Given the description of an element on the screen output the (x, y) to click on. 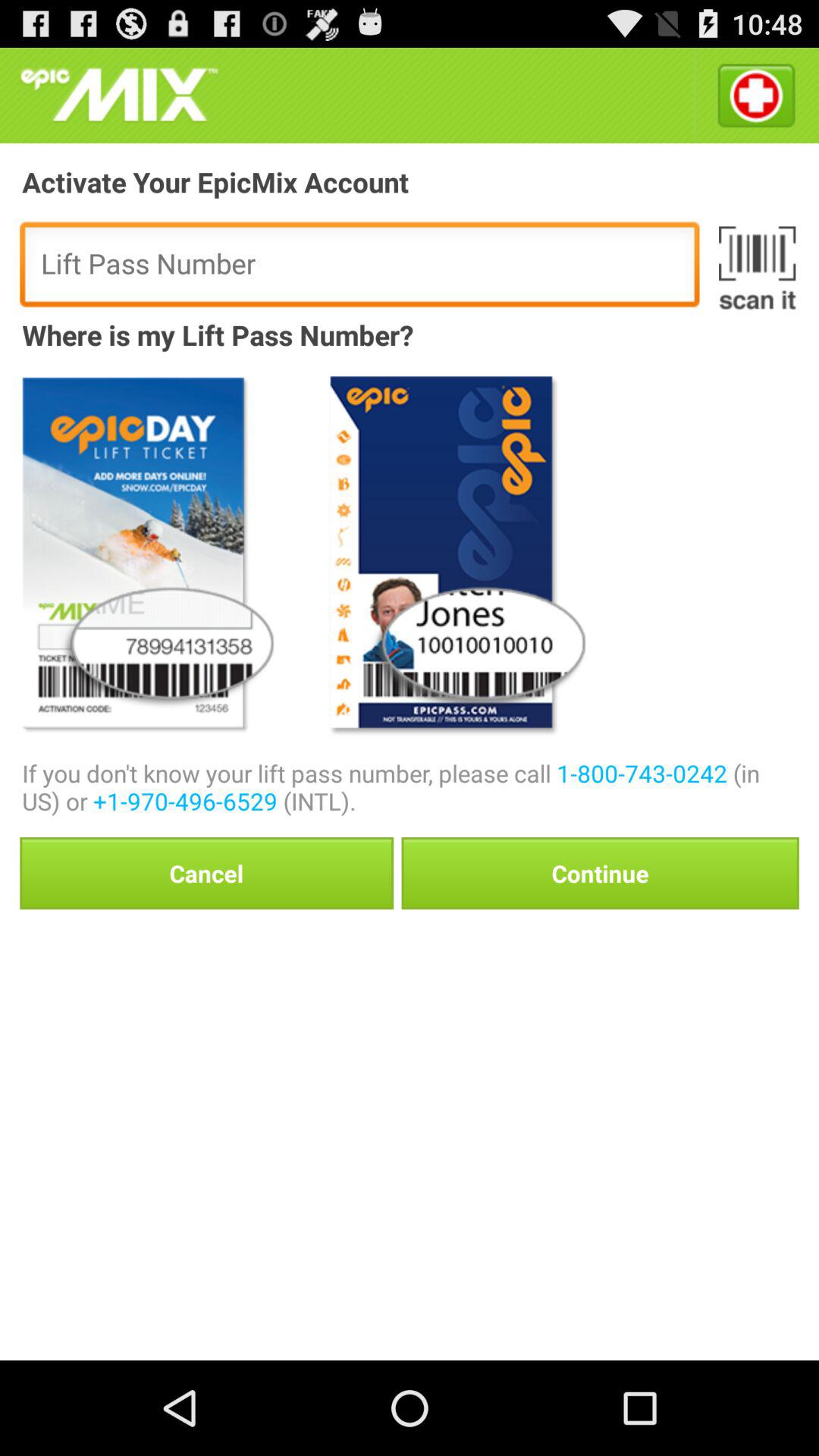
swipe until continue button (600, 873)
